Given the description of an element on the screen output the (x, y) to click on. 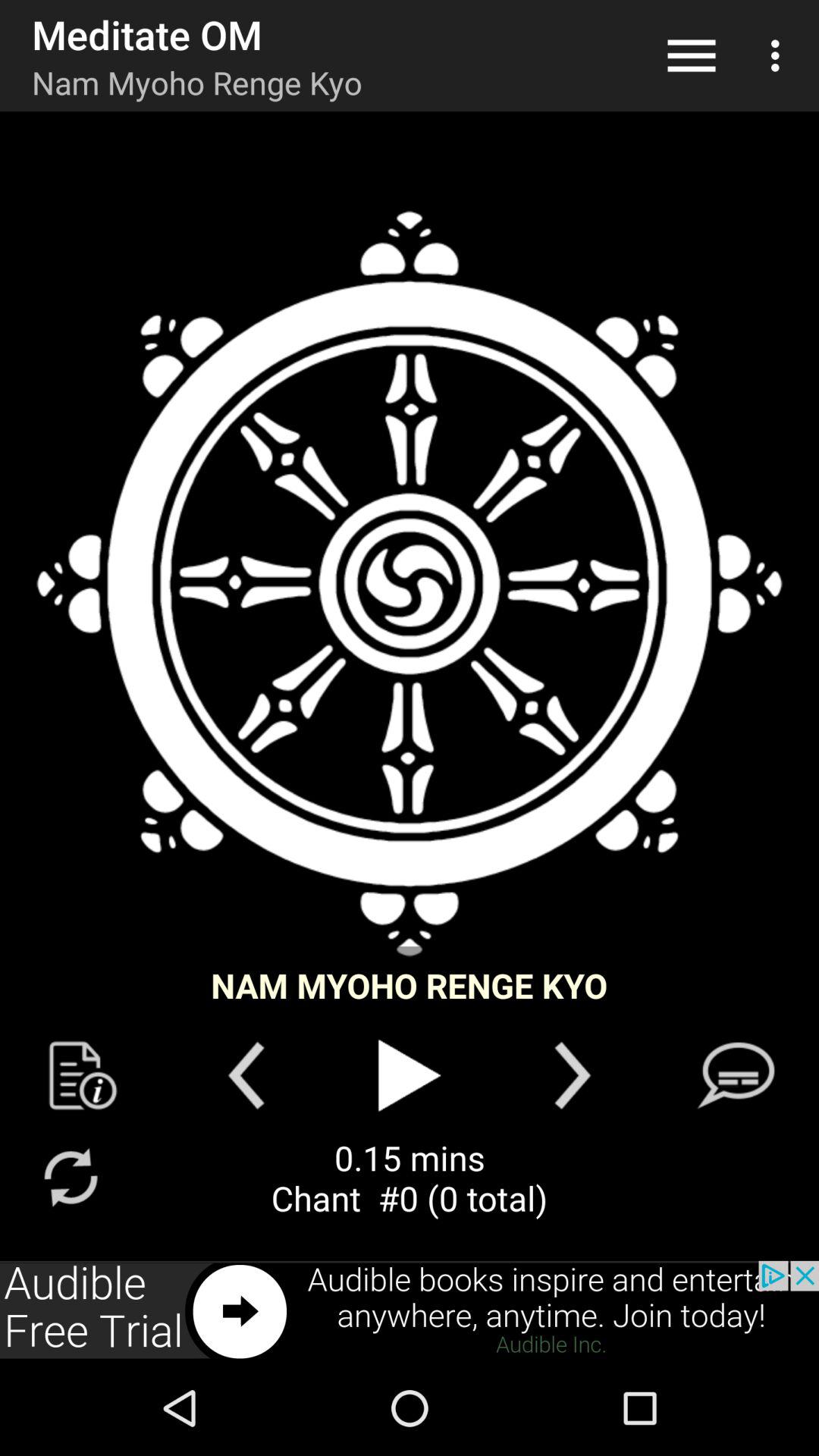
go to the previous music track (246, 1075)
